Given the description of an element on the screen output the (x, y) to click on. 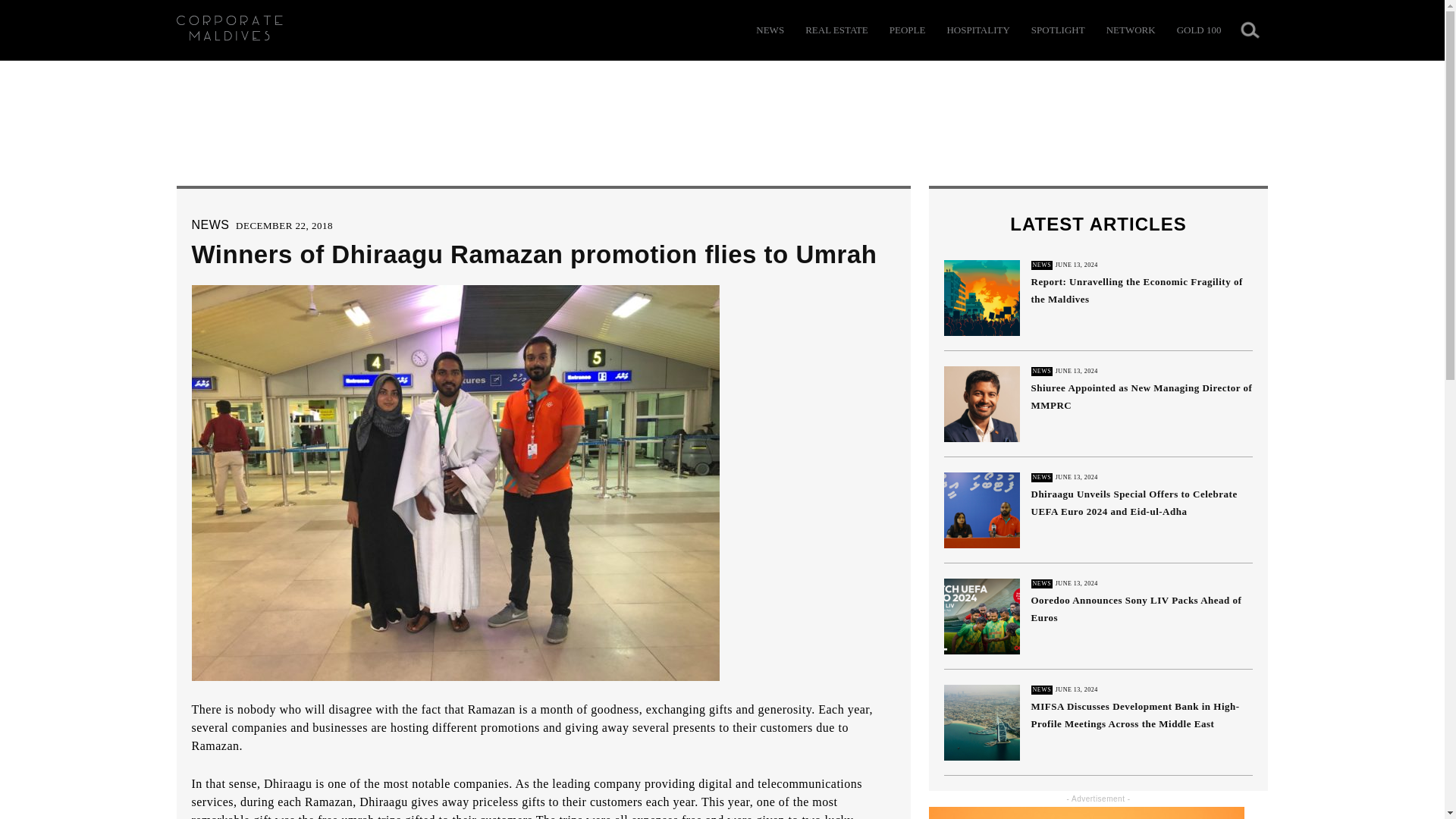
SPOTLIGHT (1057, 30)
NEWS (209, 224)
NEWS (769, 30)
NETWORK (1131, 30)
GOLD 100 (1198, 30)
HOSPITALITY (977, 30)
REAL ESTATE (836, 30)
PEOPLE (907, 30)
